Given the description of an element on the screen output the (x, y) to click on. 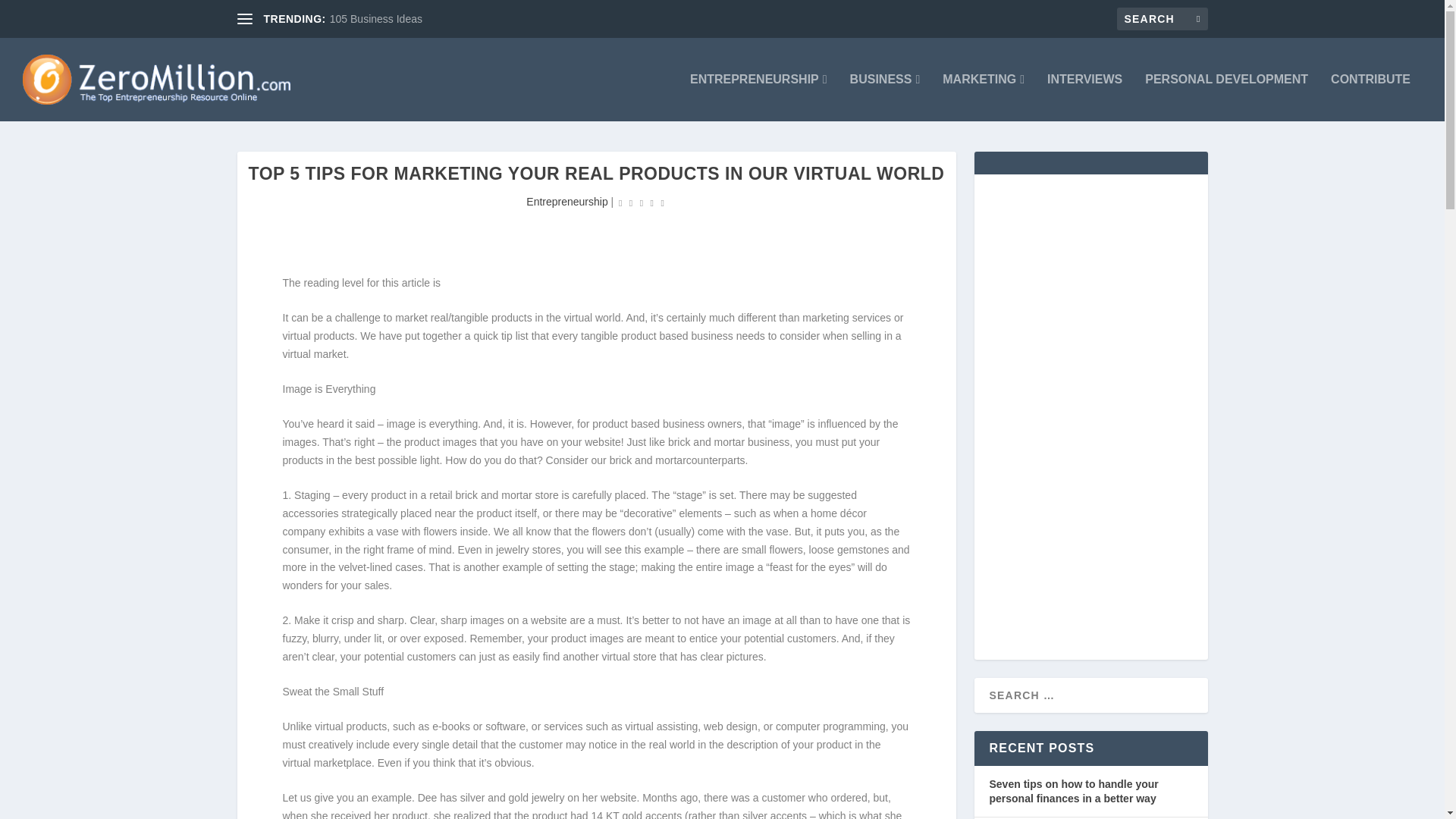
ENTREPRENEURSHIP (758, 97)
CONTRIBUTE (1370, 97)
Entrepreneurship (566, 201)
105 Business Ideas (376, 19)
MARKETING (983, 97)
Rating: 0.00 (640, 202)
PERSONAL DEVELOPMENT (1225, 97)
Search for: (1161, 18)
BUSINESS (885, 97)
INTERVIEWS (1084, 97)
Advertisement (512, 222)
